Given the description of an element on the screen output the (x, y) to click on. 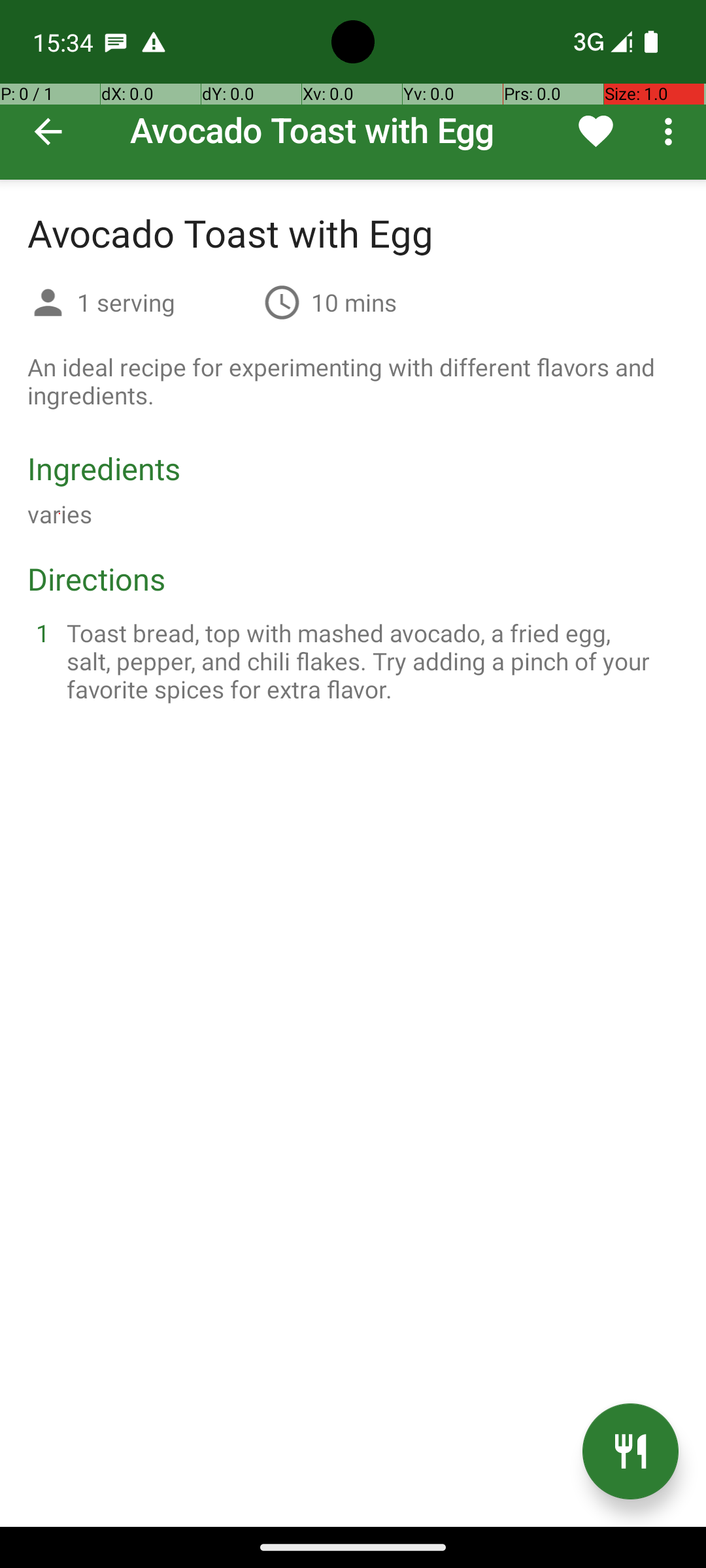
varies Element type: android.widget.TextView (59, 513)
Toast bread, top with mashed avocado, a fried egg, salt, pepper, and chili flakes. Try adding a pinch of your favorite spices for extra flavor. Element type: android.widget.TextView (368, 660)
